Given the description of an element on the screen output the (x, y) to click on. 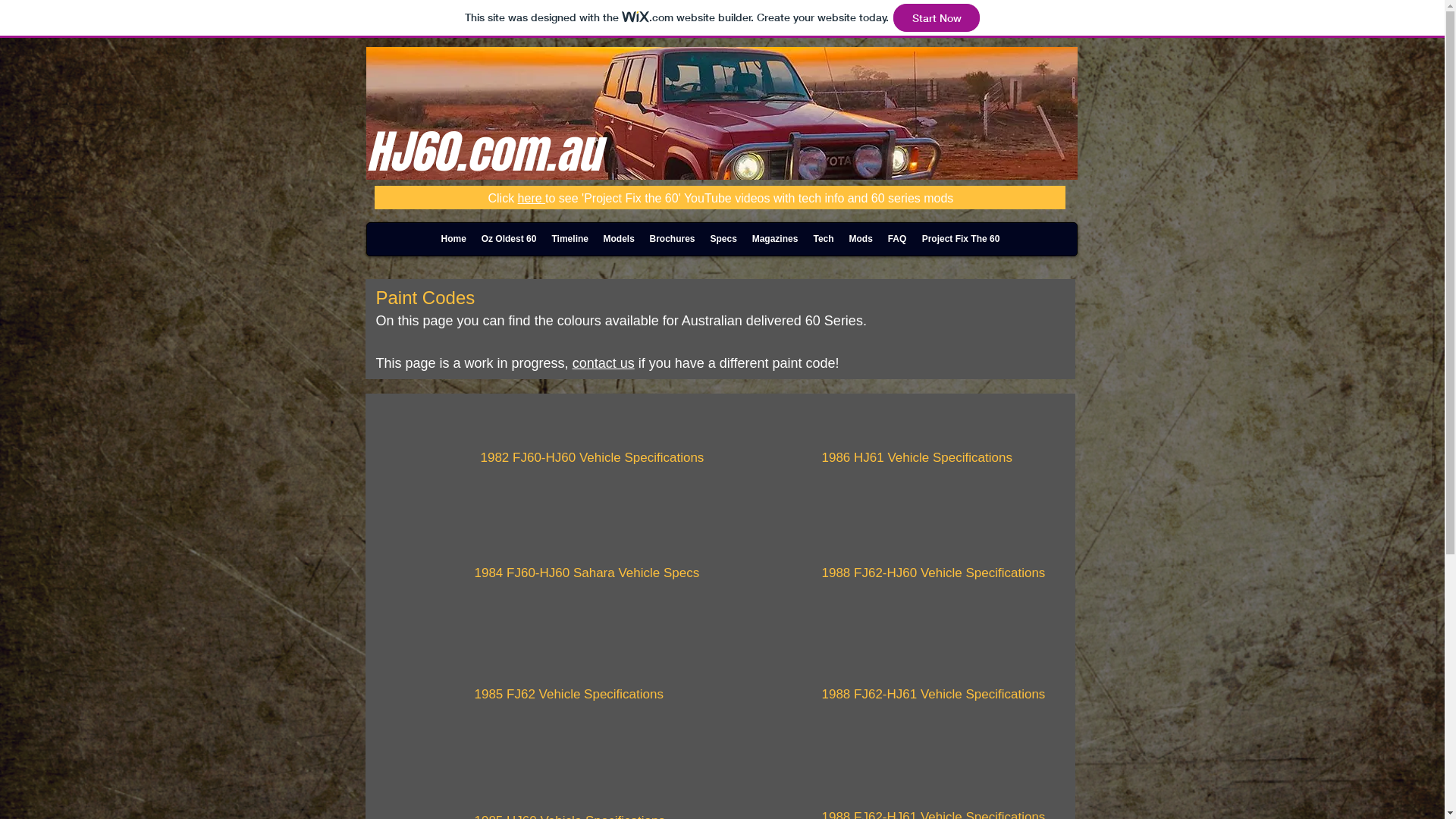
Home Element type: text (453, 238)
Models Element type: text (619, 238)
FAQ Element type: text (896, 238)
Mods Element type: text (860, 238)
Magazines Element type: text (775, 238)
Project Fix The 60 Element type: text (960, 238)
here Element type: text (531, 197)
Timeline Element type: text (570, 238)
Specs Element type: text (722, 238)
Brochures Element type: text (671, 238)
Oz Oldest 60 Element type: text (508, 238)
contact us Element type: text (603, 362)
Tech Element type: text (822, 238)
